Given the description of an element on the screen output the (x, y) to click on. 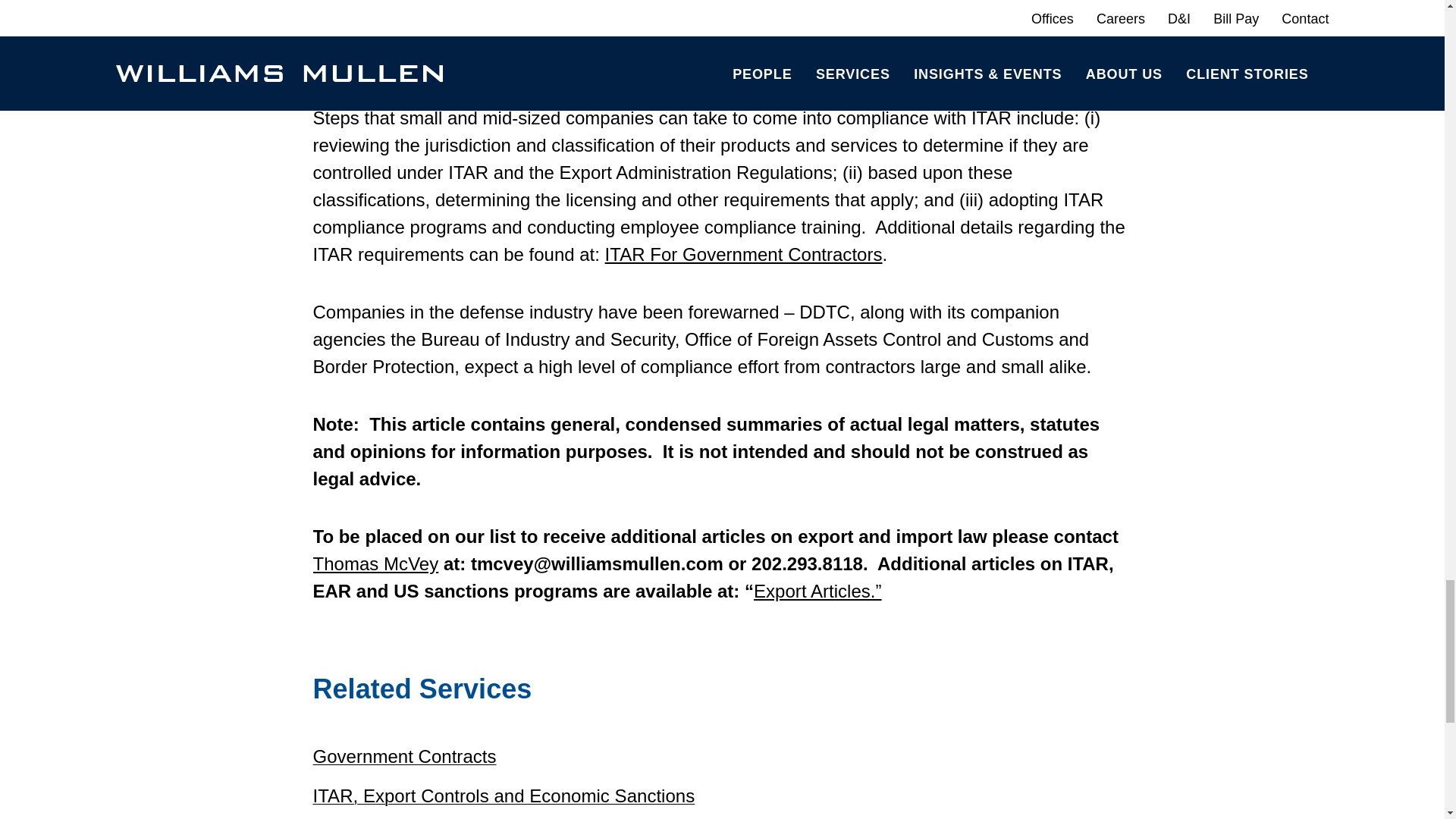
ITAR, Export Controls and Economic Sanctions (503, 795)
Thomas McVey (375, 563)
Government Contracts (404, 756)
ITAR For Government Contractors (743, 254)
